Given the description of an element on the screen output the (x, y) to click on. 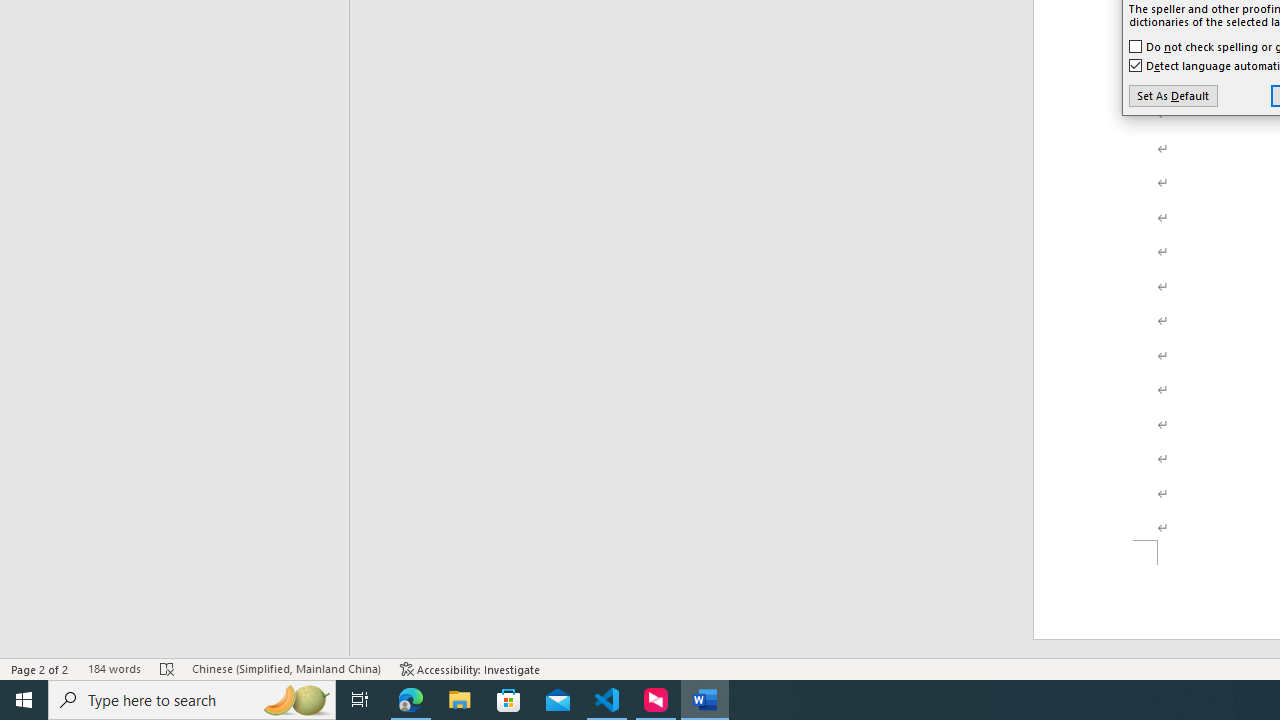
Microsoft Edge - 1 running window (411, 699)
Word - 1 running window (704, 699)
Word Count 184 words (113, 668)
Set As Default (1172, 96)
File Explorer (460, 699)
Page Number Page 2 of 2 (39, 668)
